Given the description of an element on the screen output the (x, y) to click on. 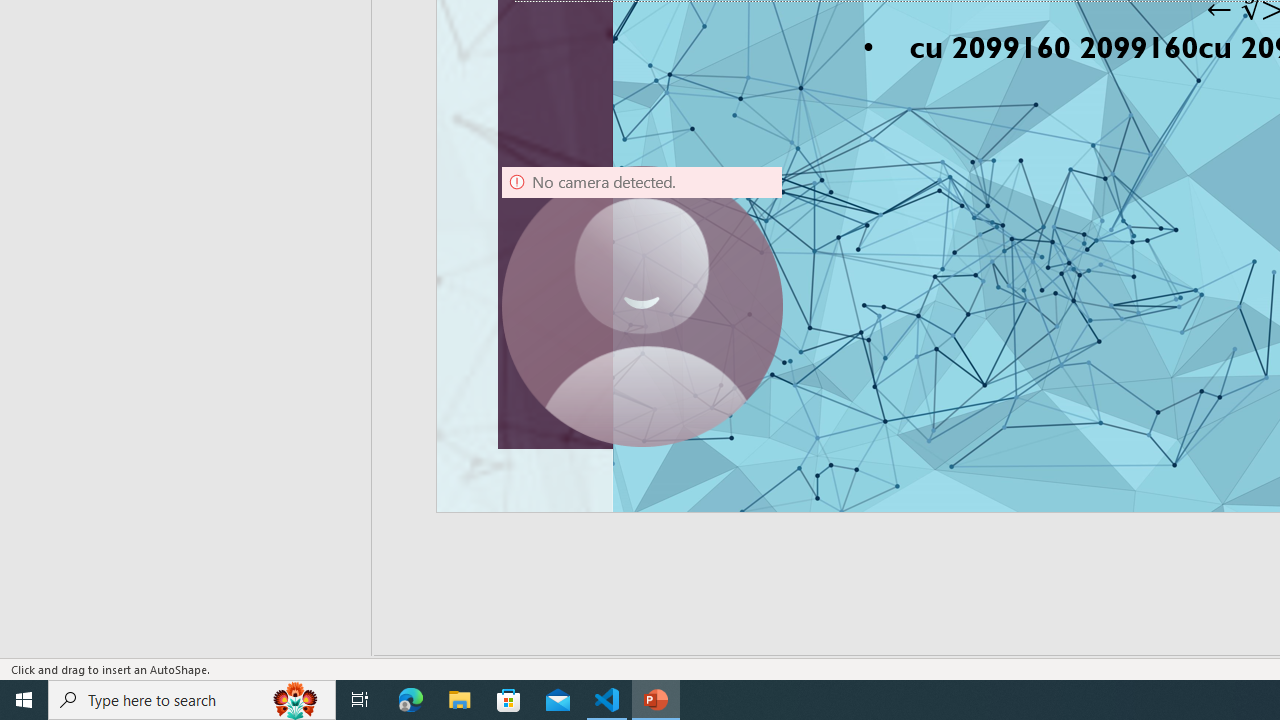
Ports - 26 forwarded ports (1165, 218)
Terminal (Ctrl+`) (1021, 218)
No Problems (212, 628)
Microsoft security help and learning (413, 221)
Reload (1071, 174)
